Given the description of an element on the screen output the (x, y) to click on. 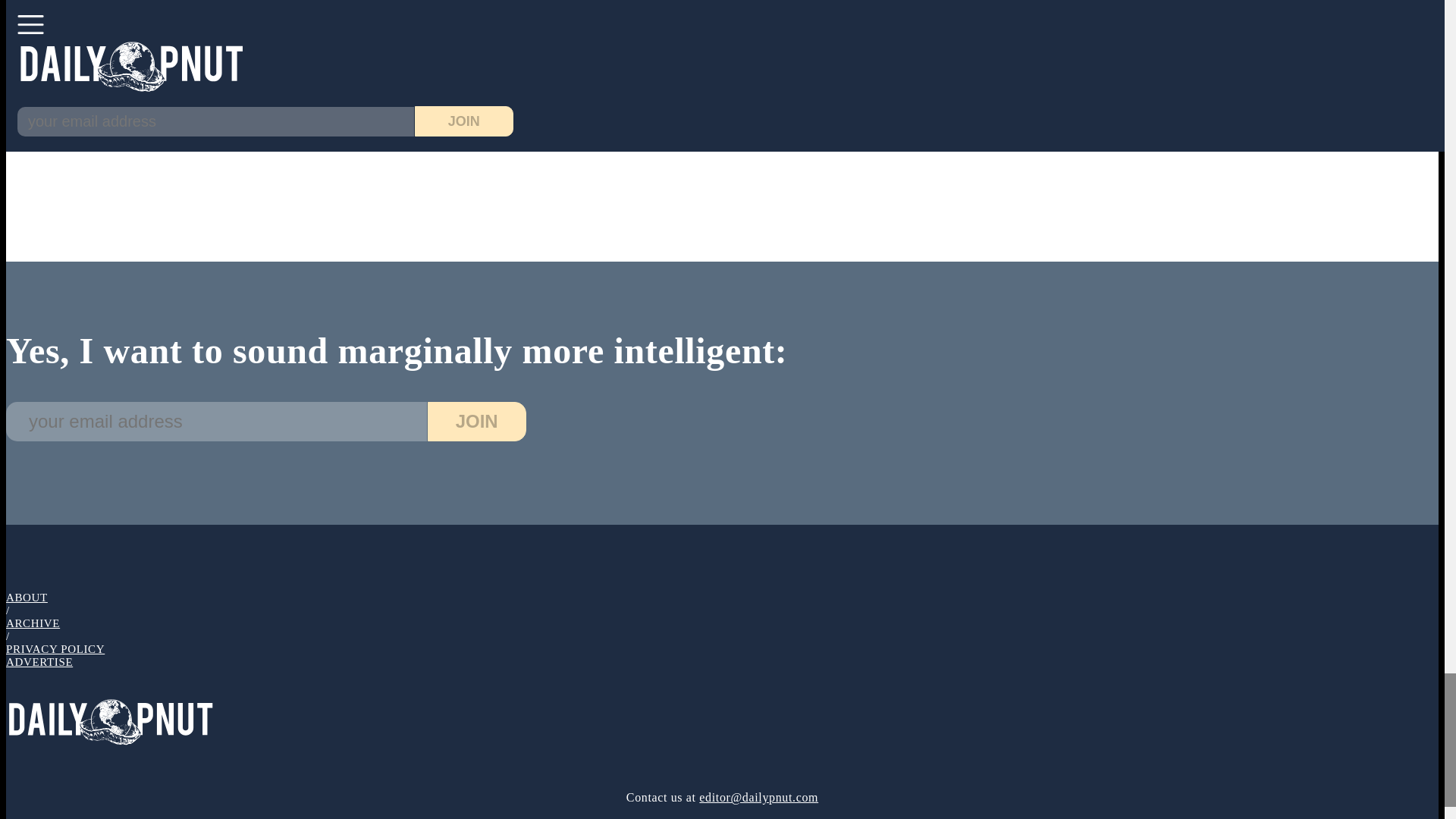
JOIN (476, 421)
